Given the description of an element on the screen output the (x, y) to click on. 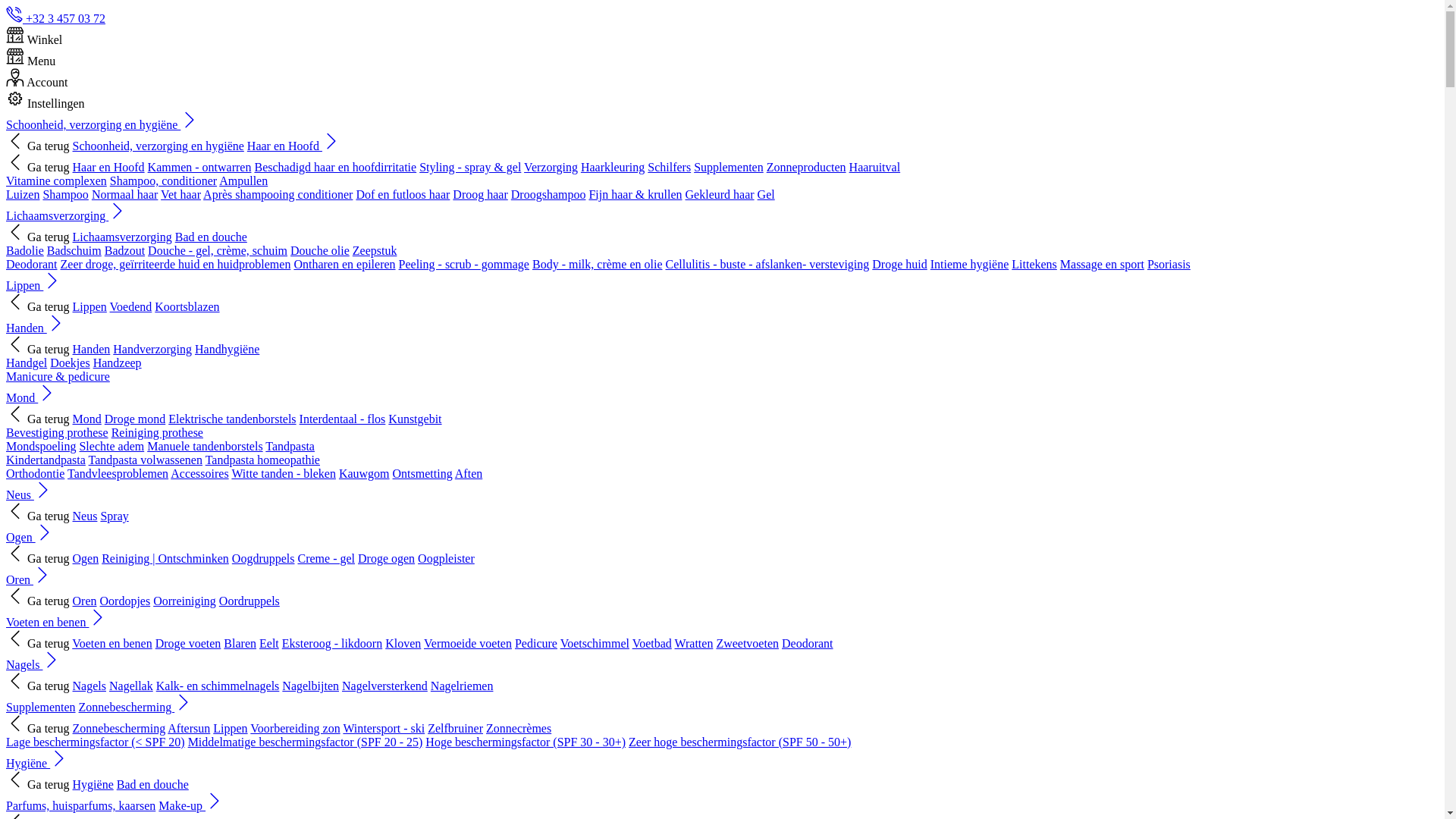
Verzorging Element type: text (550, 166)
Reiniging prothese Element type: text (157, 432)
Ga terug Element type: text (37, 166)
Peeling - scrub - gommage Element type: text (463, 263)
Handen Element type: text (91, 348)
Ga terug Element type: text (37, 348)
Oren Element type: text (84, 600)
Zonnebescherming Element type: text (119, 727)
Kunstgebit Element type: text (414, 418)
Zonnebescherming Element type: text (135, 706)
Vet haar Element type: text (180, 194)
Gel Element type: text (766, 194)
Deodorant Element type: text (807, 643)
Lage beschermingsfactor (< SPF 20) Element type: text (95, 741)
Handen Element type: text (35, 327)
Droge huid Element type: text (899, 263)
Handzeep Element type: text (117, 362)
Lippen Element type: text (33, 285)
Slechte adem Element type: text (111, 445)
Oordopjes Element type: text (125, 600)
Handgel Element type: text (26, 362)
Ampullen Element type: text (243, 180)
Droge ogen Element type: text (385, 558)
Zeer hoge beschermingsfactor (SPF 50 - 50+) Element type: text (739, 741)
Make-up Element type: text (190, 805)
Bevestiging prothese Element type: text (57, 432)
Shampoo Element type: text (64, 194)
Dof en futloos haar Element type: text (402, 194)
Kauwgom Element type: text (363, 473)
Eksteroog - likdoorn Element type: text (332, 643)
Psoriasis Element type: text (1168, 263)
Oogpleister Element type: text (445, 558)
Badschuim Element type: text (74, 250)
Manuele tandenborstels Element type: text (204, 445)
Vitamine complexen Element type: text (56, 180)
Eelt Element type: text (269, 643)
Ga terug Element type: text (37, 418)
Reiniging | Ontschminken Element type: text (165, 558)
Elektrische tandenborstels Element type: text (231, 418)
Voetschimmel Element type: text (594, 643)
Middelmatige beschermingsfactor (SPF 20 - 25) Element type: text (305, 741)
Styling - spray & gel Element type: text (469, 166)
Haar en Hoofd Element type: text (108, 166)
Beschadigd haar en hoofdirritatie Element type: text (335, 166)
Hoge beschermingsfactor (SPF 30 - 30+) Element type: text (525, 741)
Ontharen en epileren Element type: text (344, 263)
Mond Element type: text (86, 418)
Handverzorging Element type: text (151, 348)
Ga terug Element type: text (37, 236)
Supplementen Element type: text (728, 166)
Aftersun Element type: text (188, 727)
Interdentaal - flos Element type: text (342, 418)
Kammen - ontwarren Element type: text (199, 166)
Nagelbijten Element type: text (310, 685)
Shampoo, conditioner Element type: text (162, 180)
Voorbereiding zon Element type: text (294, 727)
Pedicure Element type: text (535, 643)
Ga terug Element type: text (37, 685)
Haaruitval Element type: text (874, 166)
Koortsblazen Element type: text (186, 306)
Badzout Element type: text (124, 250)
Creme - gel Element type: text (325, 558)
Haarkleuring Element type: text (612, 166)
Lippen Element type: text (89, 306)
Ga terug Element type: text (37, 558)
Nagelversterkend Element type: text (384, 685)
Oorreiniging Element type: text (184, 600)
Lippen Element type: text (230, 727)
Manicure & pedicure Element type: text (57, 376)
Wratten Element type: text (693, 643)
Droge mond Element type: text (134, 418)
Voeten en benen Element type: text (111, 643)
Spray Element type: text (114, 515)
Cellulitis - buste - afslanken- versteviging Element type: text (767, 263)
Kindertandpasta Element type: text (45, 459)
Zonneproducten Element type: text (806, 166)
Supplementen Element type: text (40, 706)
Wintersport - ski Element type: text (383, 727)
Ga terug Element type: text (37, 643)
Neus Element type: text (29, 494)
Oogdruppels Element type: text (263, 558)
Ontsmetting Element type: text (422, 473)
Badolie Element type: text (24, 250)
Neus Element type: text (84, 515)
Oren Element type: text (28, 579)
Normaal haar Element type: text (124, 194)
Ga terug Element type: text (37, 145)
Bad en douche Element type: text (211, 236)
Tandvleesproblemen Element type: text (117, 473)
Ga terug Element type: text (37, 600)
Zweetvoeten Element type: text (746, 643)
Voetbad Element type: text (651, 643)
Ga terug Element type: text (37, 727)
Fijn haar & krullen Element type: text (634, 194)
Deodorant Element type: text (31, 263)
Kloven Element type: text (402, 643)
Bad en douche Element type: text (152, 784)
Voeten en benen Element type: text (56, 621)
Massage en sport Element type: text (1102, 263)
Tandpasta Element type: text (289, 445)
Ogen Element type: text (85, 558)
Accessoires Element type: text (199, 473)
Nagels Element type: text (89, 685)
Gekleurd haar Element type: text (719, 194)
Mond Element type: text (31, 397)
Nagellak Element type: text (131, 685)
Droge voeten Element type: text (188, 643)
Oordruppels Element type: text (249, 600)
Nagels Element type: text (33, 664)
+32 3 457 03 72 Element type: text (55, 18)
Ga terug Element type: text (37, 515)
Douche olie Element type: text (319, 250)
Zelfbruiner Element type: text (455, 727)
Doekjes Element type: text (69, 362)
Lichaamsverzorging Element type: text (66, 215)
Mondspoeling Element type: text (40, 445)
Lichaamsverzorging Element type: text (122, 236)
Kalk- en schimmelnagels Element type: text (217, 685)
Haar en Hoofd Element type: text (293, 145)
Tandpasta volwassenen Element type: text (145, 459)
Schilfers Element type: text (668, 166)
Zeepstuk Element type: text (374, 250)
Droogshampoo Element type: text (548, 194)
Littekens Element type: text (1034, 263)
Luizen Element type: text (22, 194)
Aften Element type: text (468, 473)
Droog haar Element type: text (479, 194)
Ogen Element type: text (29, 536)
Tandpasta homeopathie Element type: text (262, 459)
Vermoeide voeten Element type: text (467, 643)
Orthodontie Element type: text (35, 473)
Blaren Element type: text (239, 643)
Nagelriemen Element type: text (461, 685)
Ga terug Element type: text (37, 306)
Voedend Element type: text (130, 306)
Parfums, huisparfums, kaarsen Element type: text (80, 805)
Witte tanden - bleken Element type: text (283, 473)
Ga terug Element type: text (37, 784)
